Given the description of an element on the screen output the (x, y) to click on. 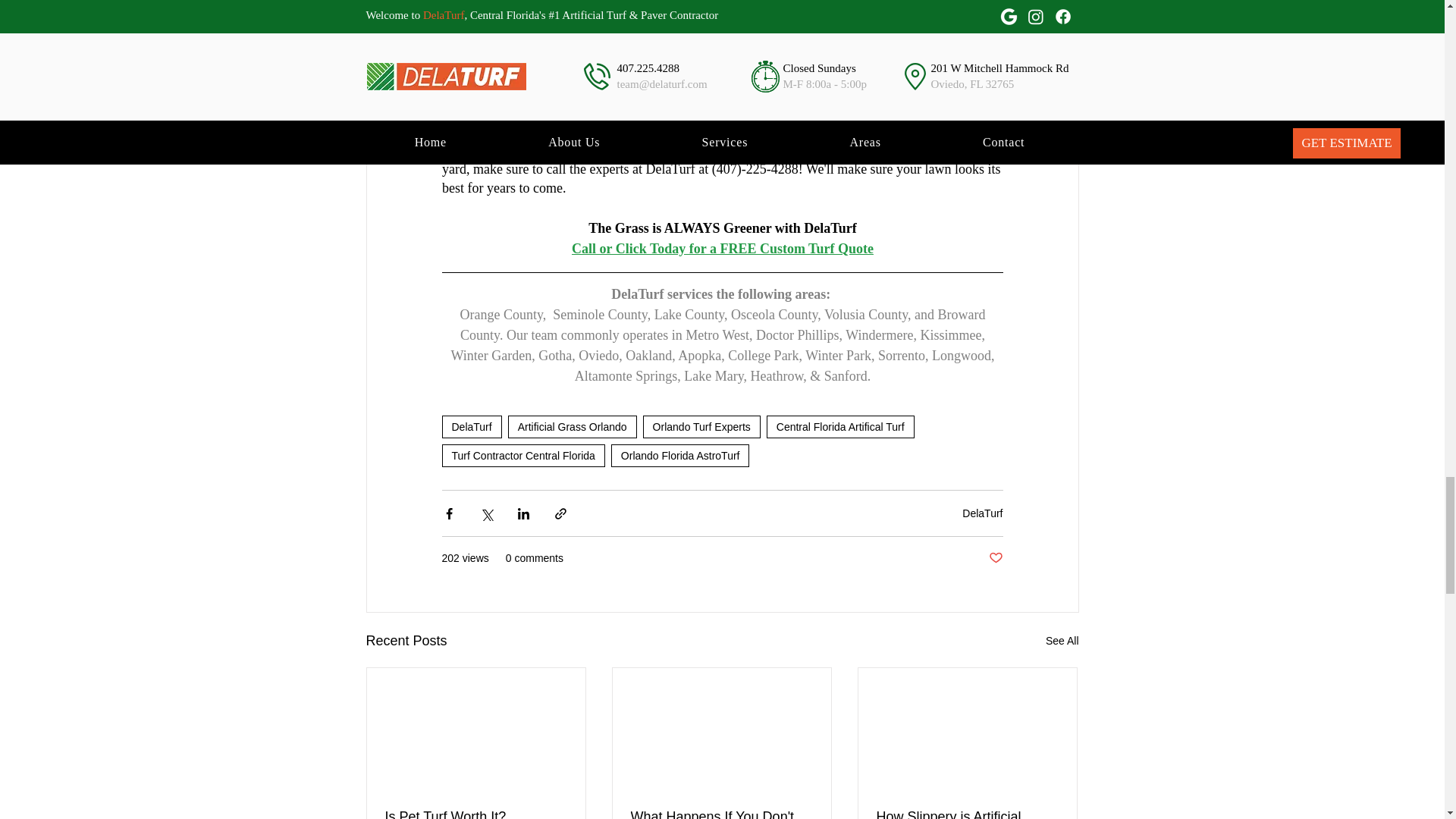
Call or Click Today for a FREE Custom Turf Quote (722, 248)
